Given the description of an element on the screen output the (x, y) to click on. 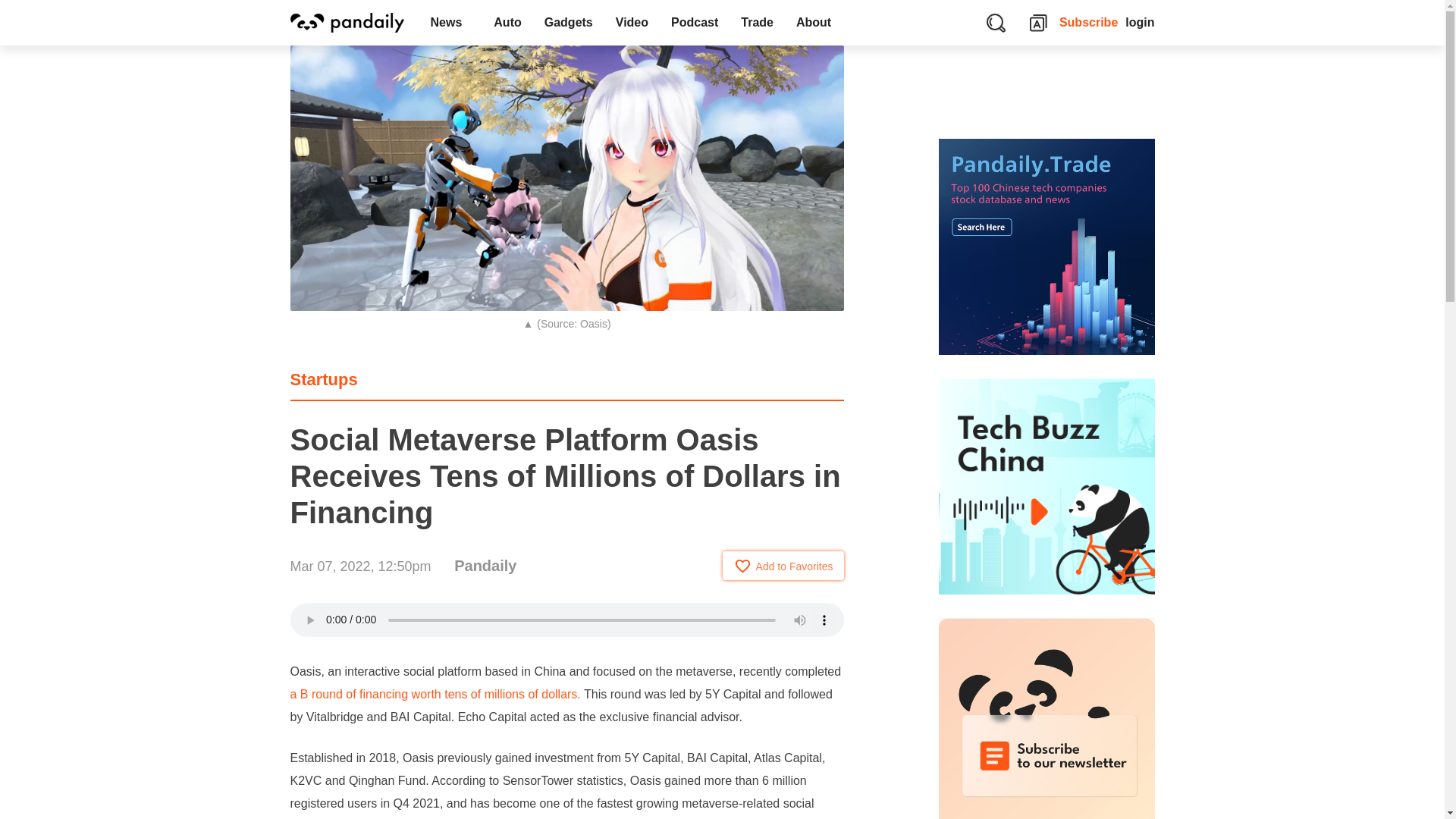
Podcast (694, 22)
Add to Favorites (783, 565)
About (817, 22)
Pandaily (485, 565)
Startups (322, 379)
a B round of financing worth tens of millions of dollars. (434, 694)
News (450, 22)
Video (631, 22)
Auto (506, 22)
Gadgets (568, 22)
